Given the description of an element on the screen output the (x, y) to click on. 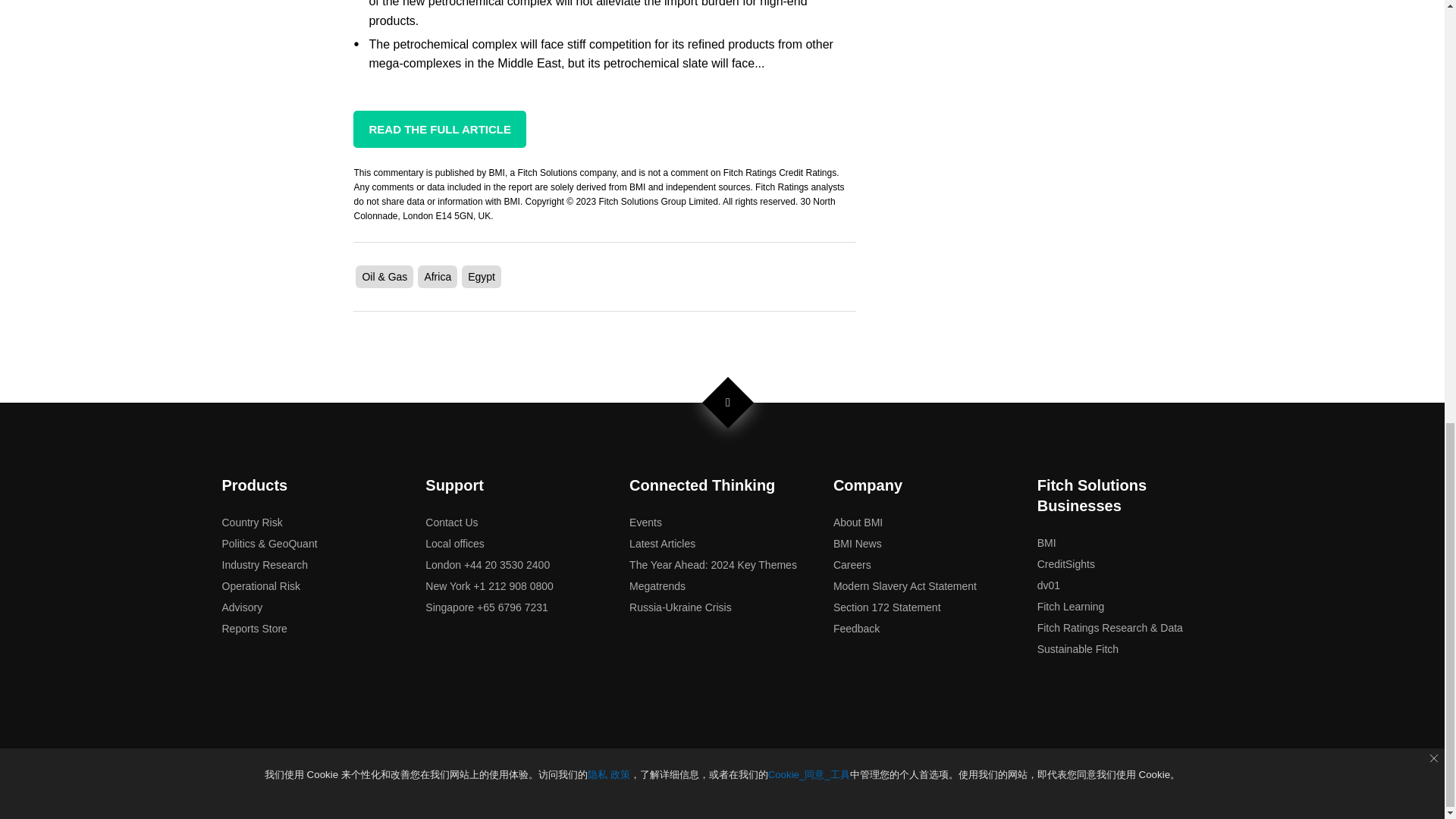
Events (645, 522)
Advisory (241, 607)
Reports Store (253, 628)
Country Risk (251, 522)
Contact Us (451, 522)
Operational Risk (260, 585)
READ THE FULL ARTICLE (439, 129)
Egypt (481, 276)
Industry Research (264, 564)
Africa (437, 276)
